Given the description of an element on the screen output the (x, y) to click on. 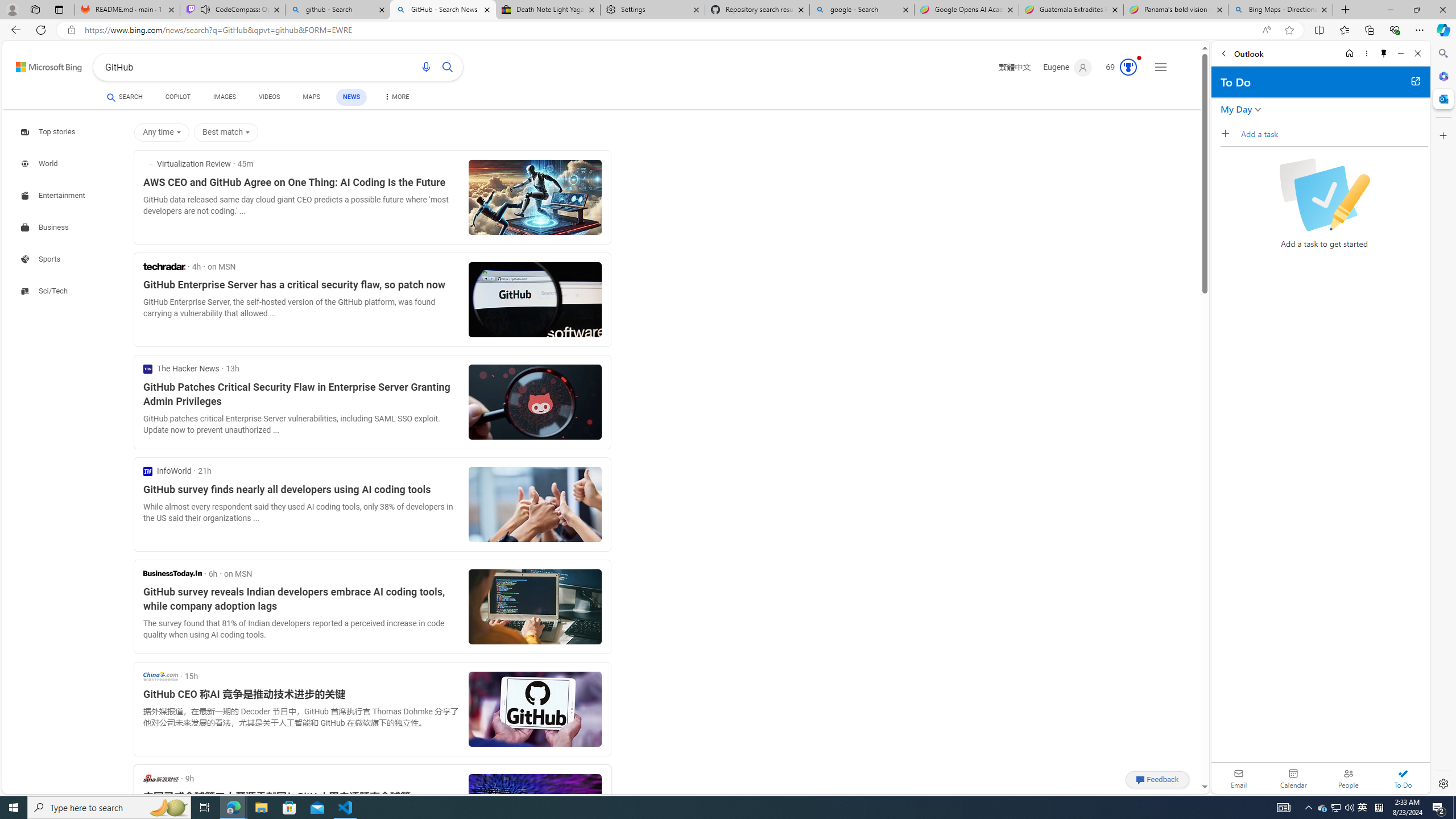
Search news about Entertainment (54, 195)
MAPS (311, 98)
Search news from InfoWorld (167, 470)
NEWS (350, 96)
google - Search (861, 9)
My Day (1236, 109)
NEWS (350, 96)
Open in new tab (1414, 80)
To Do (1402, 777)
